Given the description of an element on the screen output the (x, y) to click on. 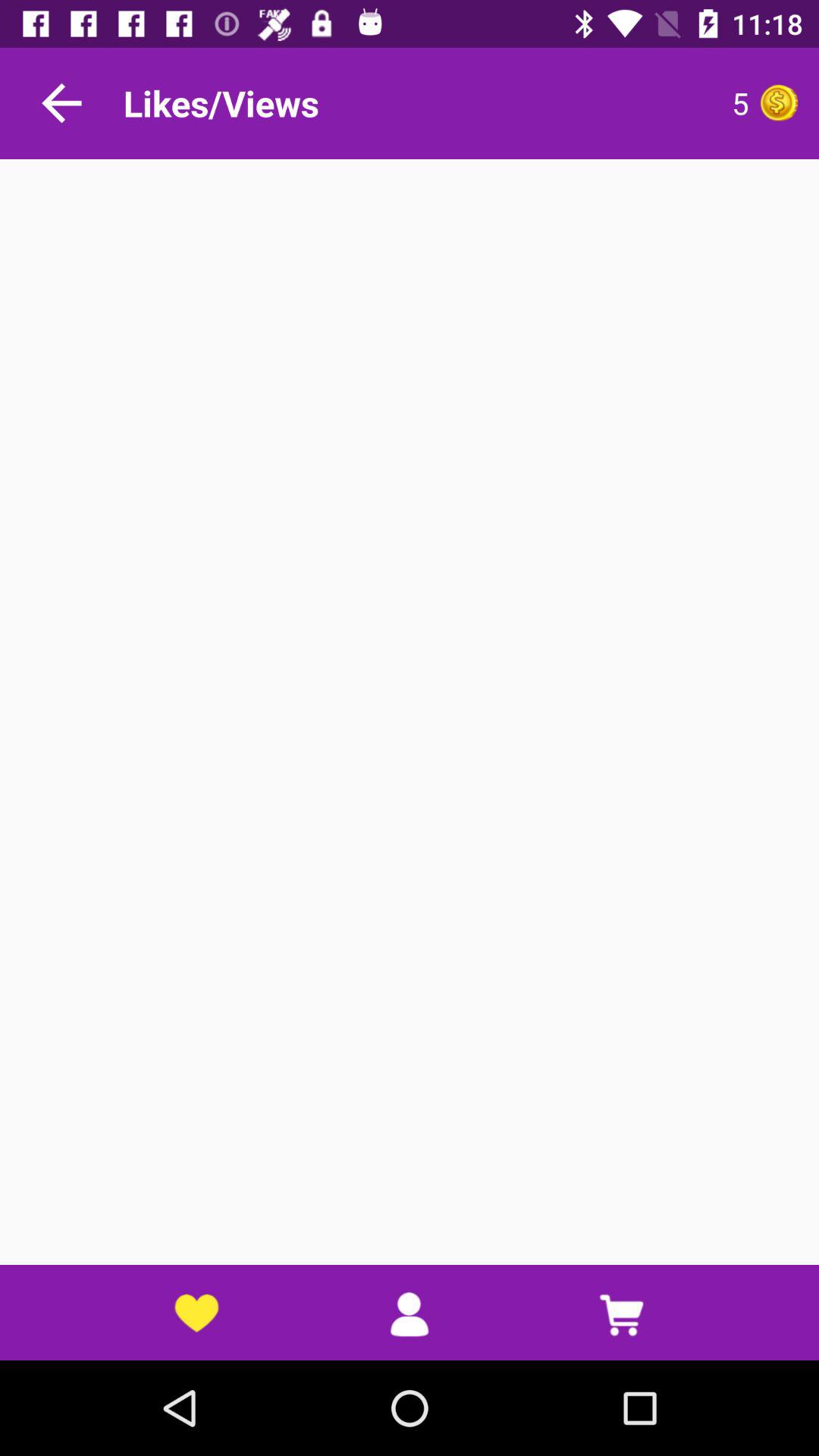
jump to the 5 item (603, 102)
